Given the description of an element on the screen output the (x, y) to click on. 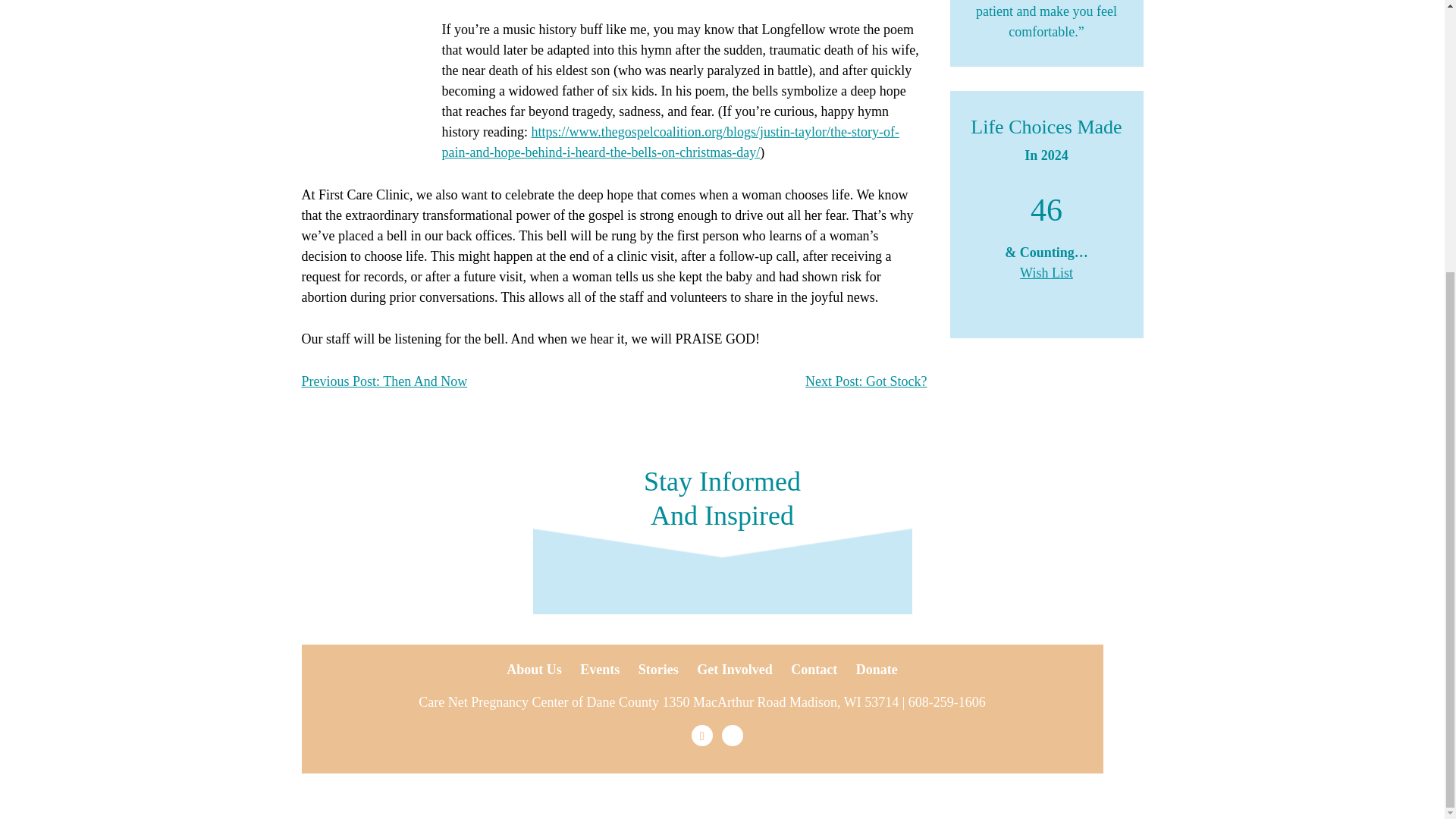
About Us (534, 669)
Stories (658, 669)
Get Involved (735, 669)
Events (599, 669)
Wish List (1046, 272)
Next Post: Got Stock? (866, 381)
Previous Post: Then And Now (384, 381)
Contact (813, 669)
608-259-1606 (946, 702)
Donate (877, 669)
